Given the description of an element on the screen output the (x, y) to click on. 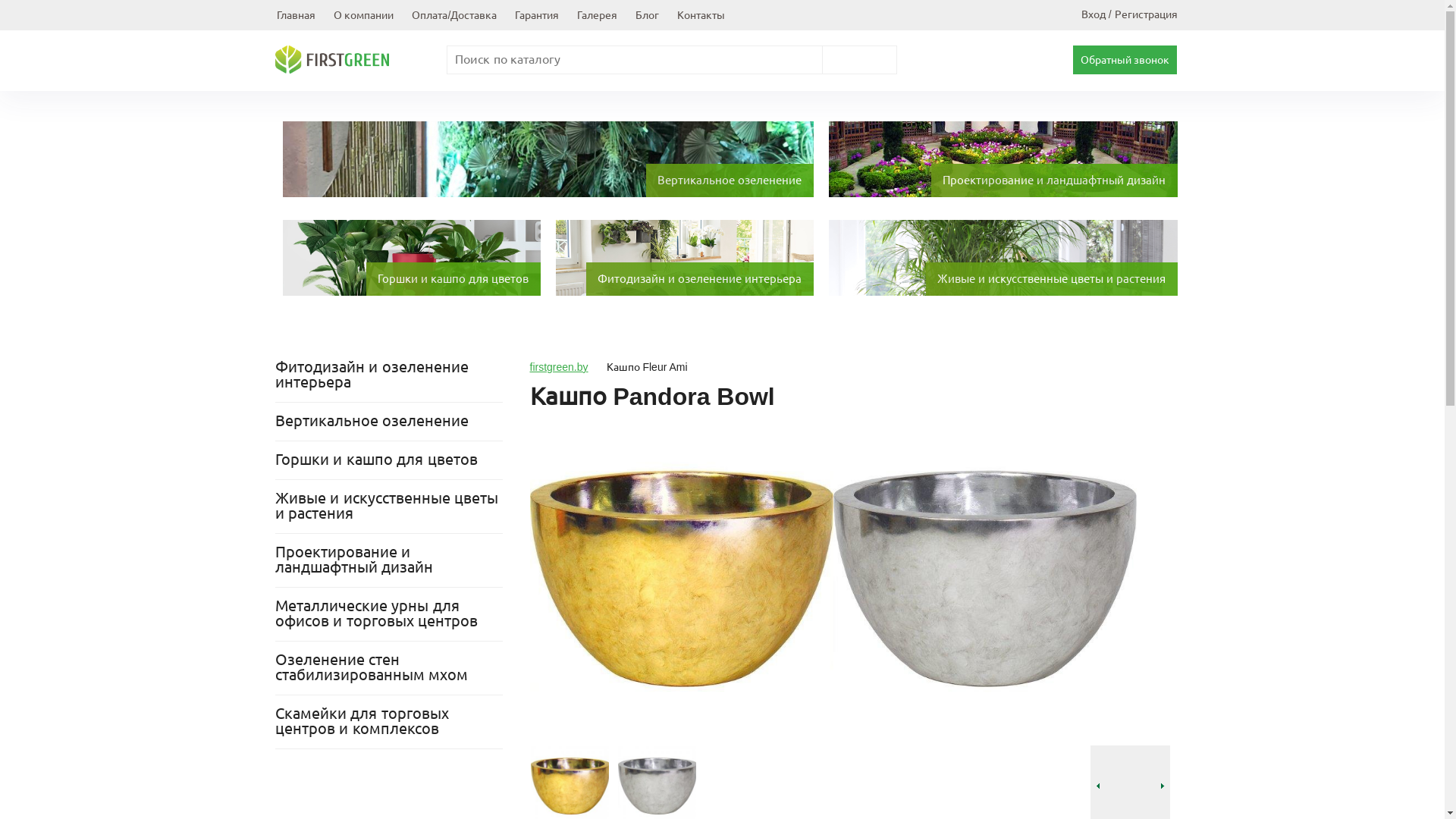
firstgreen.by Element type: text (558, 366)
